Given the description of an element on the screen output the (x, y) to click on. 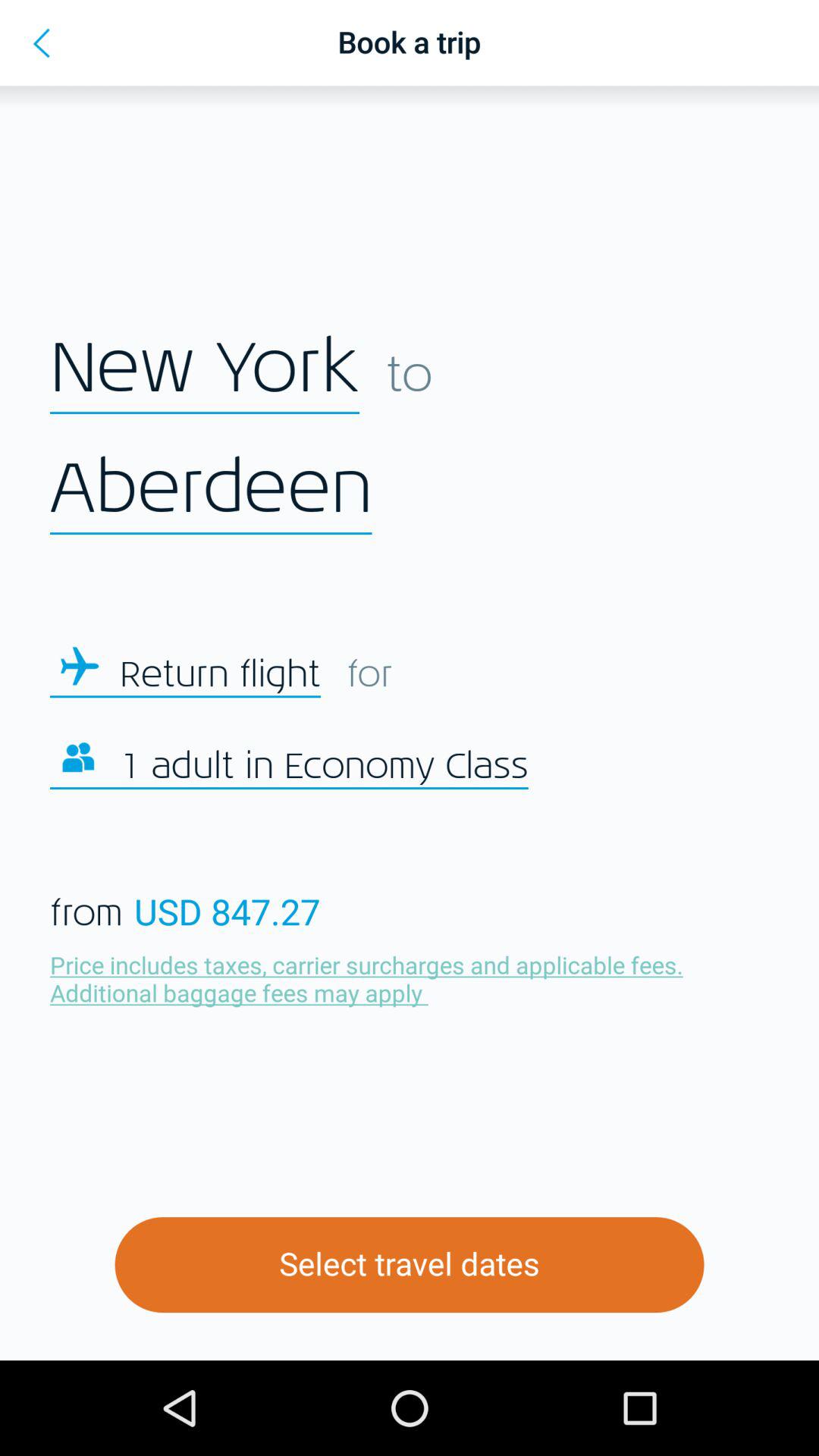
turn off the aberdeen icon (210, 489)
